Given the description of an element on the screen output the (x, y) to click on. 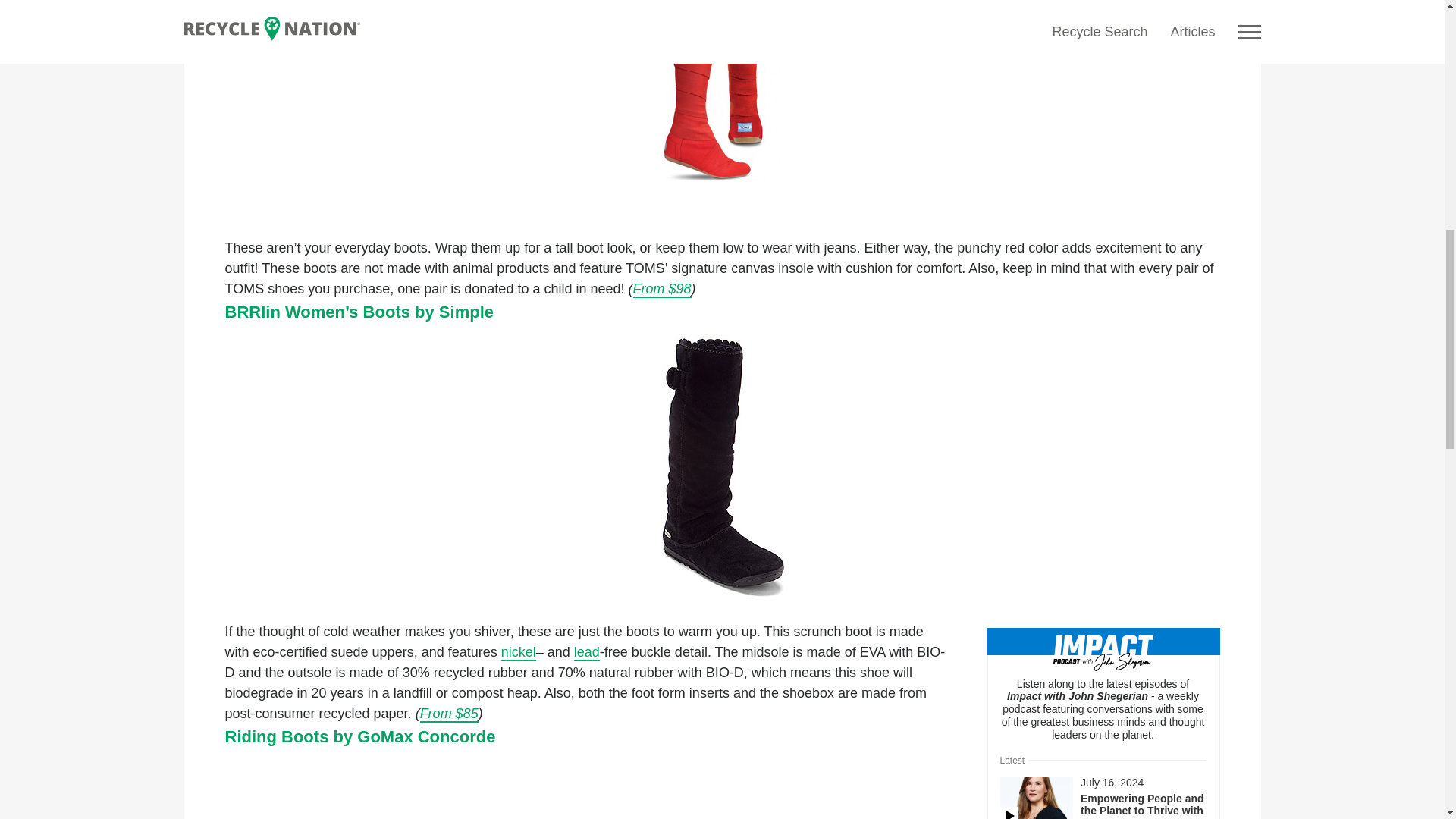
TOMS-Red-Wrap-Boot (722, 110)
BRRlin-boots-Simple (722, 467)
nickel (517, 652)
lead (586, 652)
Nickel Compounds (517, 652)
